Given the description of an element on the screen output the (x, y) to click on. 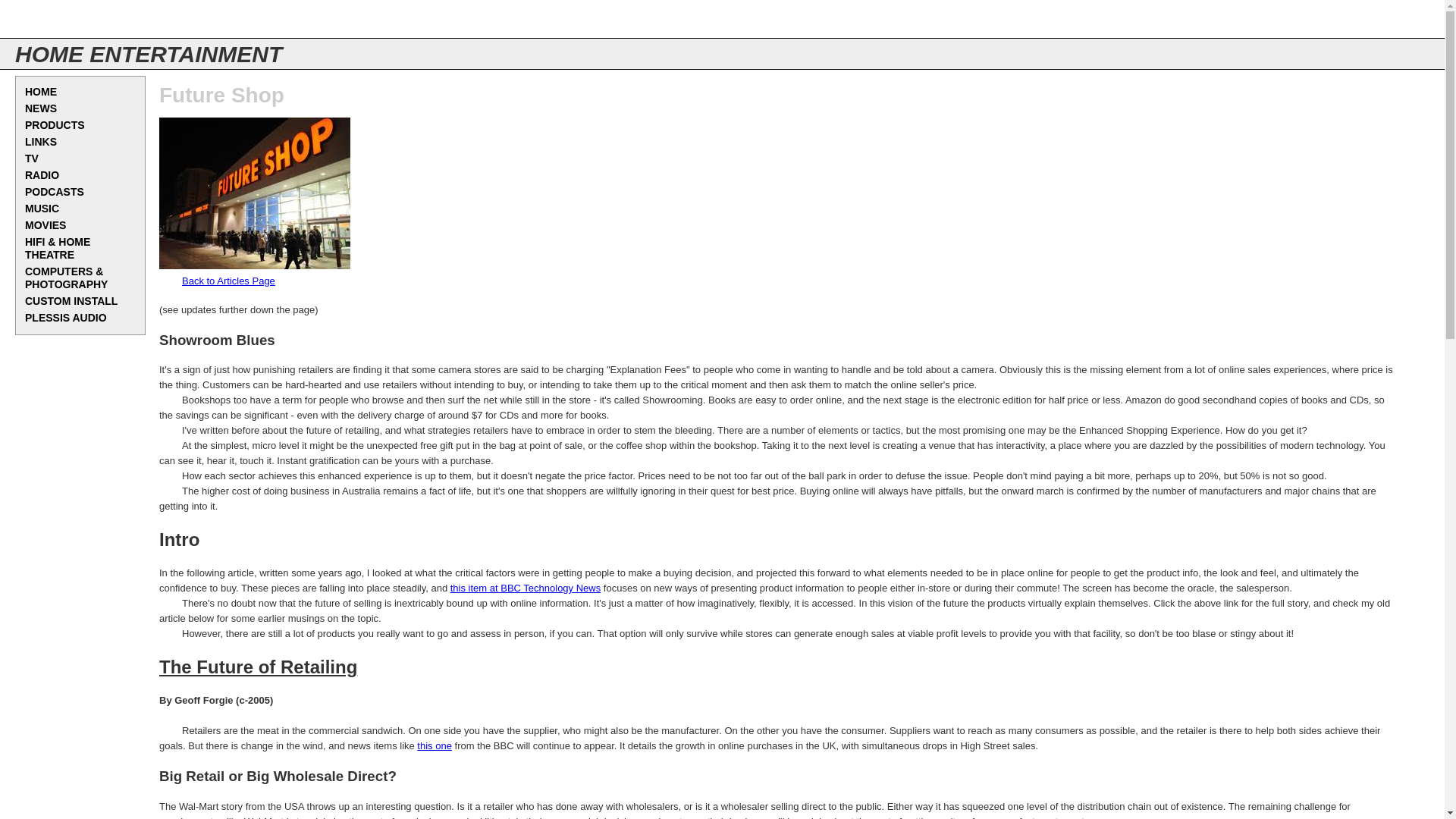
TV Element type: text (80, 158)
HOME Element type: text (80, 92)
PRODUCTS Element type: text (80, 125)
RADIO Element type: text (80, 175)
this item at BBC Technology News Element type: text (525, 587)
PODCASTS Element type: text (80, 192)
HOME ENTERTAINMENT Element type: text (148, 53)
LINKS Element type: text (80, 142)
MUSIC Element type: text (80, 208)
this one Element type: text (434, 745)
PLESSIS AUDIO Element type: text (80, 318)
Back to Articles Page Element type: text (228, 280)
HIFI & HOME THEATRE Element type: text (80, 248)
CUSTOM INSTALL Element type: text (80, 301)
MOVIES Element type: text (80, 225)
COMPUTERS & PHOTOGRAPHY Element type: text (80, 277)
NEWS Element type: text (80, 108)
